Given the description of an element on the screen output the (x, y) to click on. 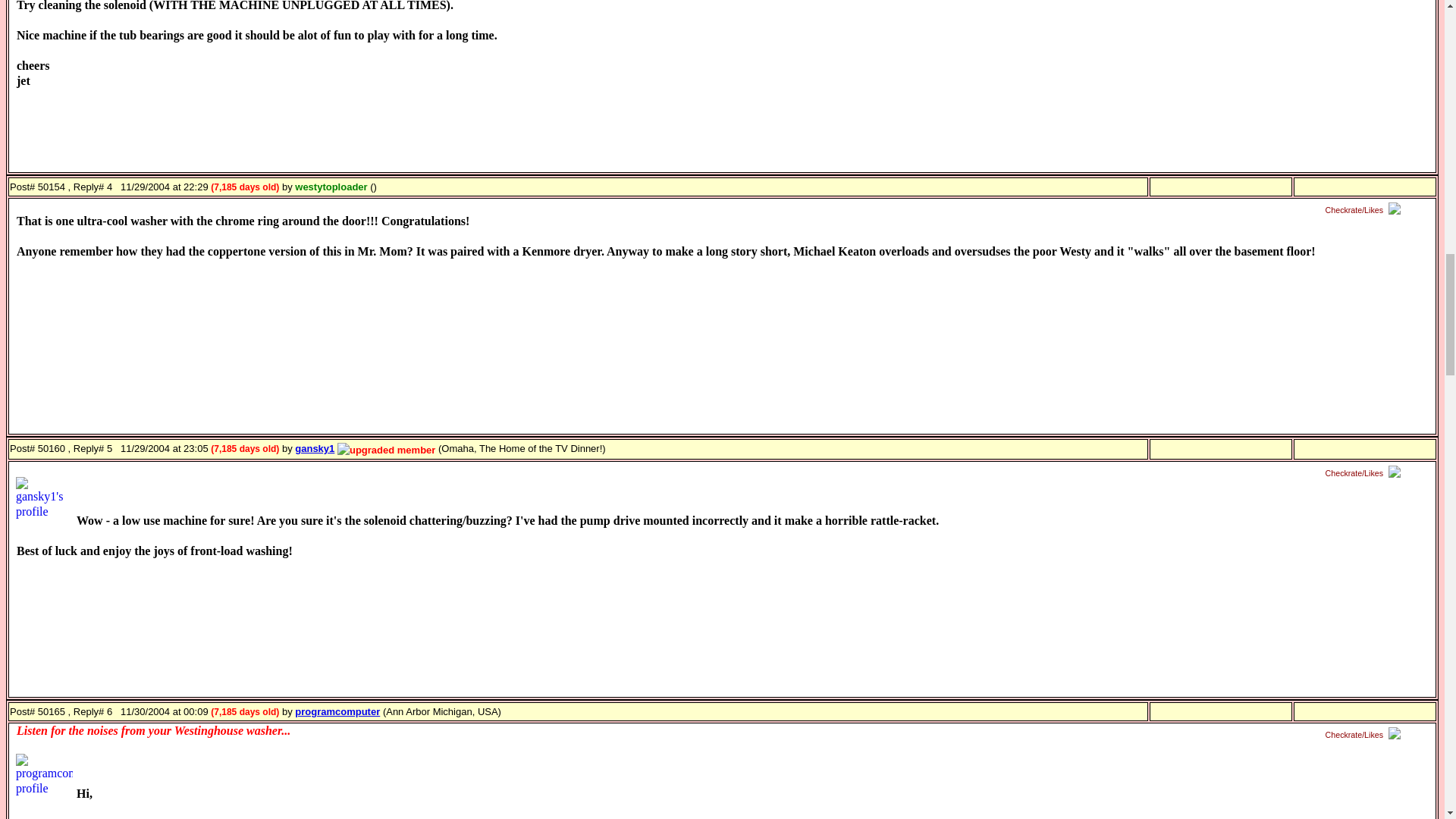
You must be logged in to checkrate posts (1364, 735)
You must be logged in to checkrate posts (1364, 210)
upgraded member (386, 450)
You must be logged in to checkrate posts (1364, 472)
